Given the description of an element on the screen output the (x, y) to click on. 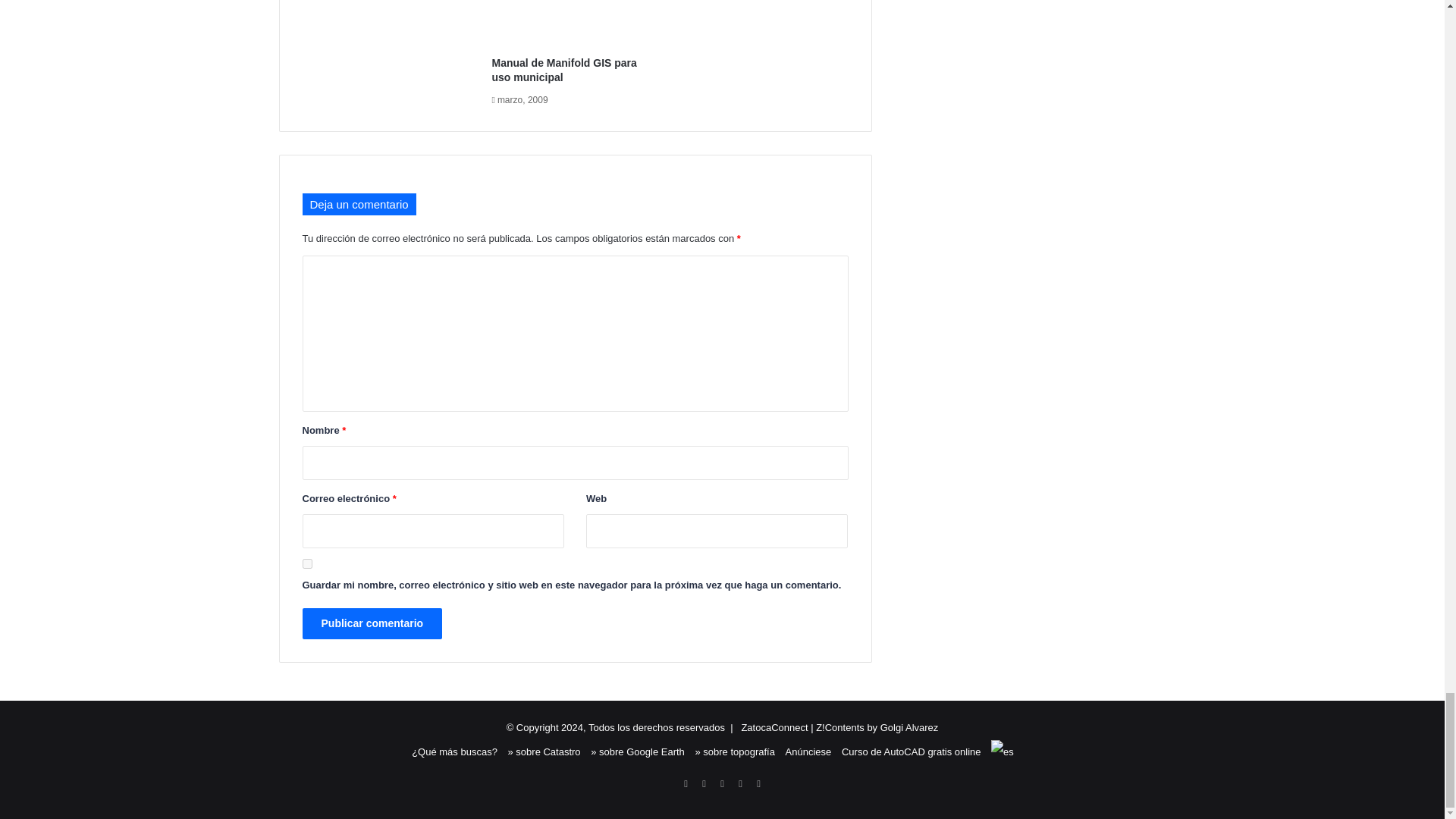
Publicar comentario (371, 623)
yes (306, 563)
